Given the description of an element on the screen output the (x, y) to click on. 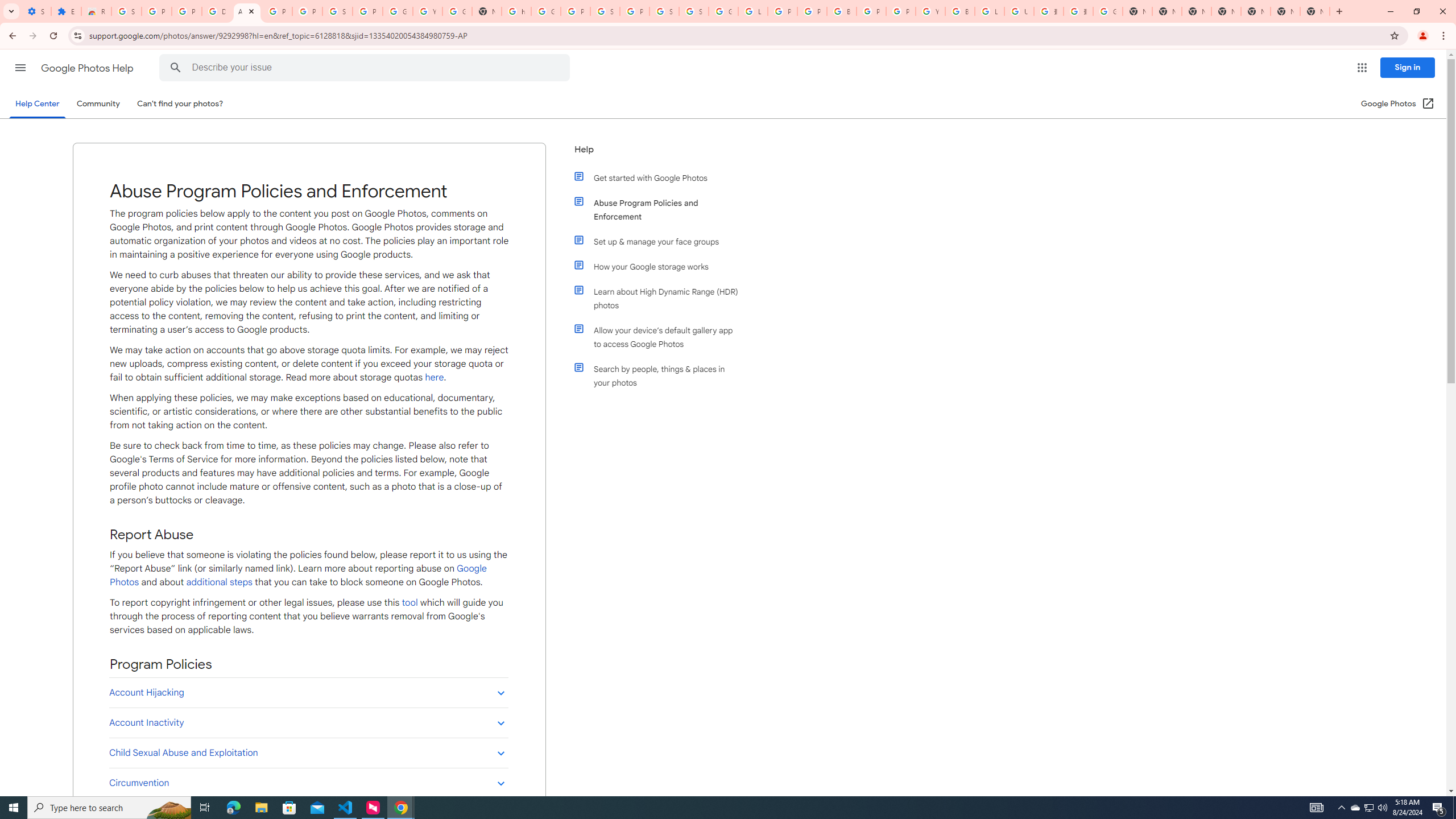
New Tab (1226, 11)
Google Account (397, 11)
Child Sexual Abuse and Exploitation (308, 752)
Circumvention (308, 782)
Google Photos (297, 575)
Browse Chrome as a guest - Computer - Google Chrome Help (959, 11)
Sign in - Google Accounts (126, 11)
Sign in - Google Accounts (604, 11)
